Given the description of an element on the screen output the (x, y) to click on. 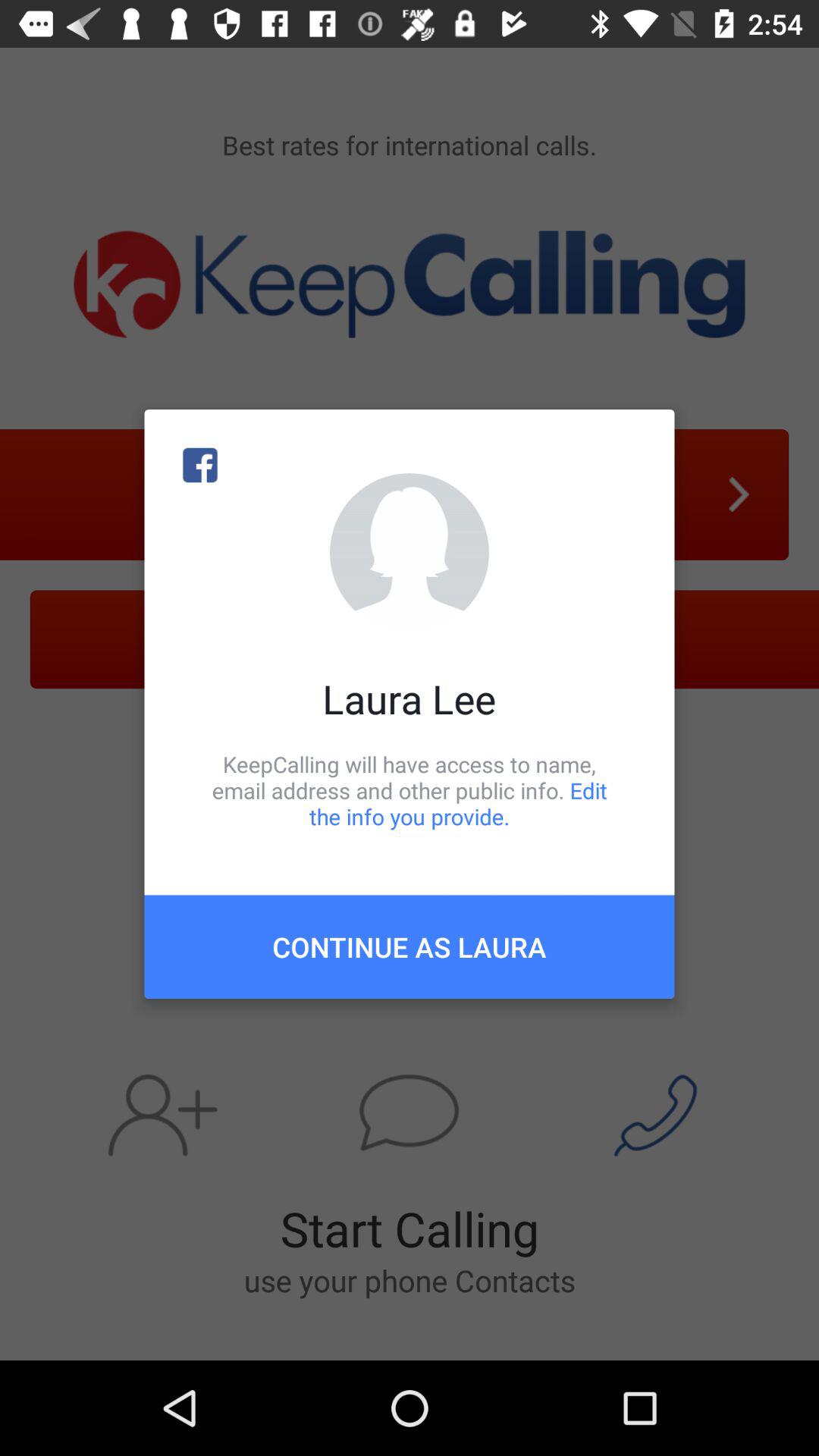
scroll until continue as laura icon (409, 946)
